Given the description of an element on the screen output the (x, y) to click on. 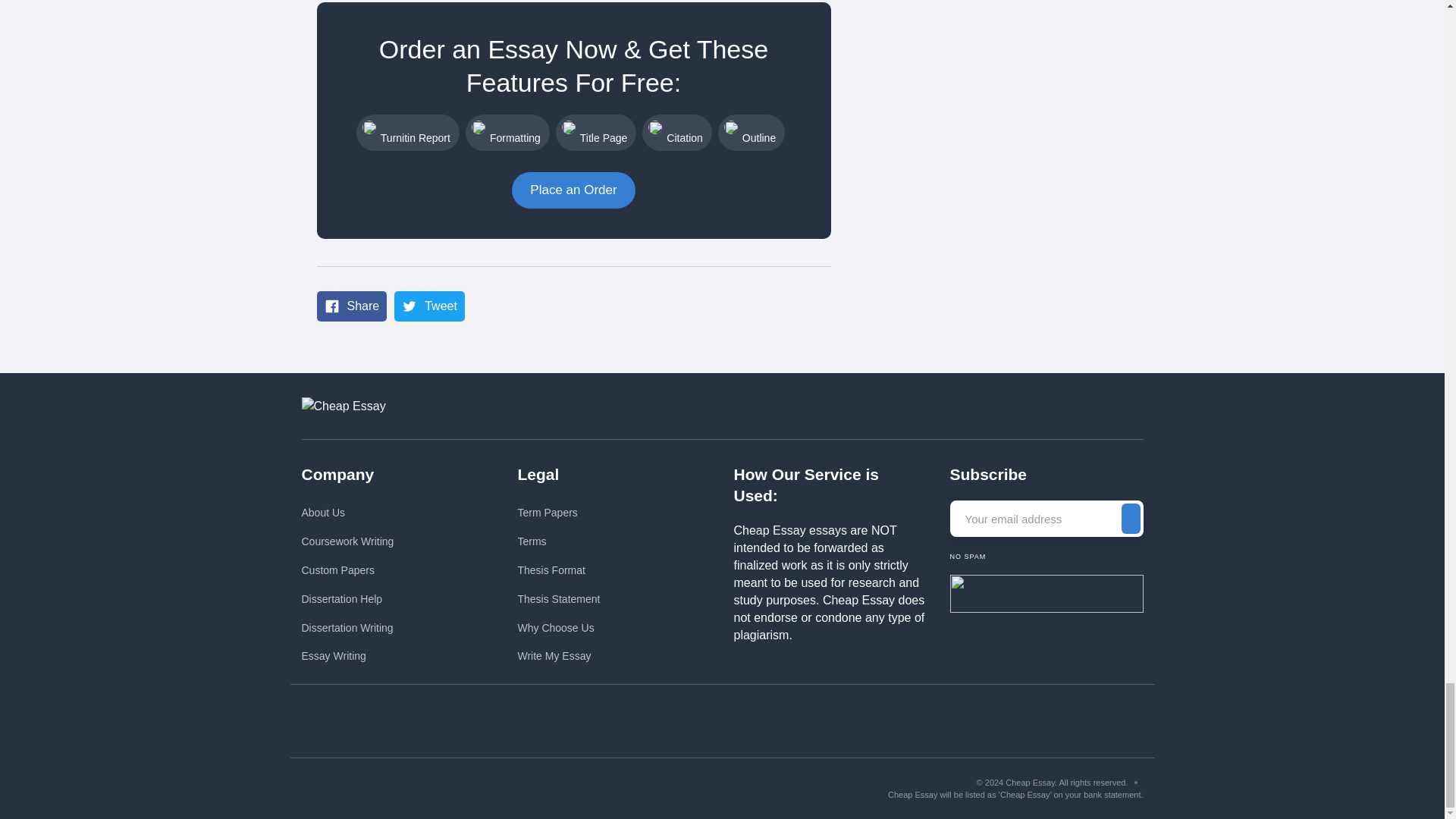
Thesis Format (557, 570)
Share (352, 306)
Essay Writing (347, 656)
Terms (557, 541)
Dissertation Writing (347, 627)
Why Choose Us (557, 627)
Coursework Writing (347, 541)
Tweet (429, 306)
Place an Order (573, 189)
Write My Essay (557, 656)
Term Papers (557, 512)
Dissertation Help (347, 599)
Thesis Statement (557, 599)
About Us (347, 512)
Custom Papers (347, 570)
